Given the description of an element on the screen output the (x, y) to click on. 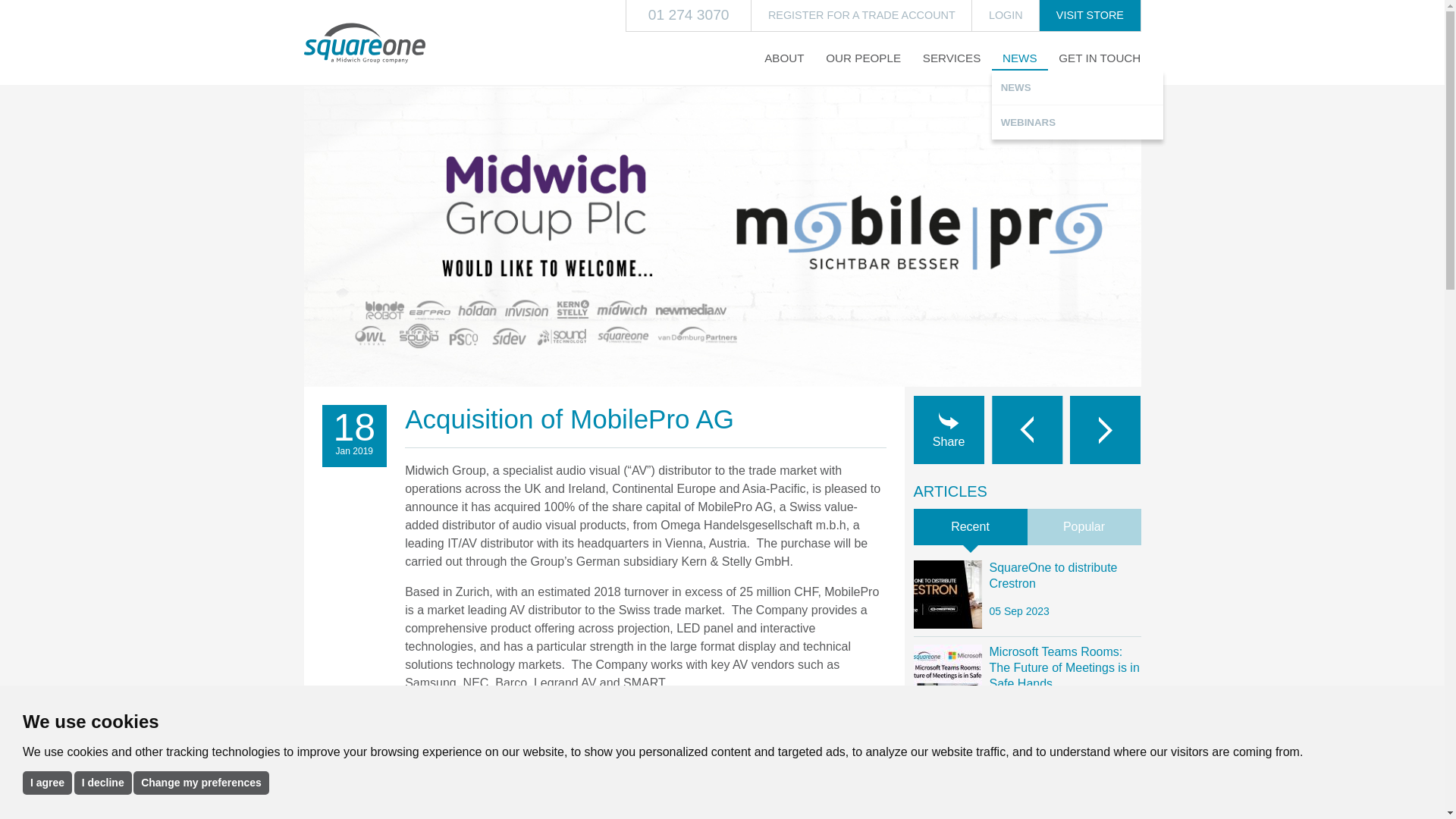
Square One (363, 43)
Change my preferences (201, 781)
LOGIN (1005, 15)
OUR PEOPLE (863, 57)
SERVICES (951, 57)
VISIT STORE (1089, 15)
ABOUT (784, 57)
I agree (47, 781)
Last (1026, 429)
GET IN TOUCH (1099, 57)
